Given the description of an element on the screen output the (x, y) to click on. 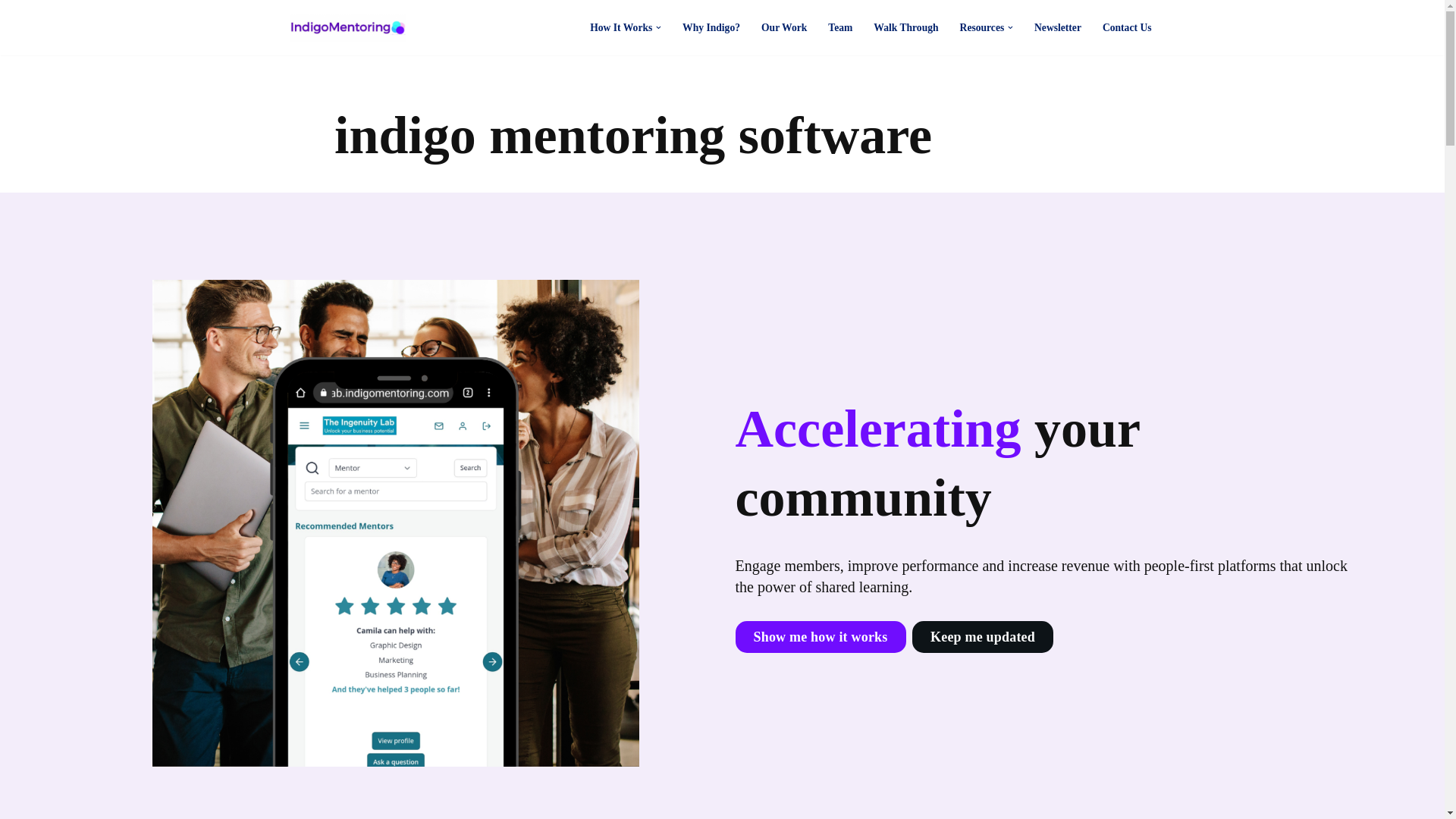
Skip to content (11, 31)
Why Indigo? (710, 27)
Newsletter (1057, 27)
Resources (981, 27)
Our Work (783, 27)
Team (839, 27)
Show me how it works (820, 636)
Contact Us (1126, 27)
How It Works (620, 27)
Keep me updated (982, 636)
Walk Through (905, 27)
